Given the description of an element on the screen output the (x, y) to click on. 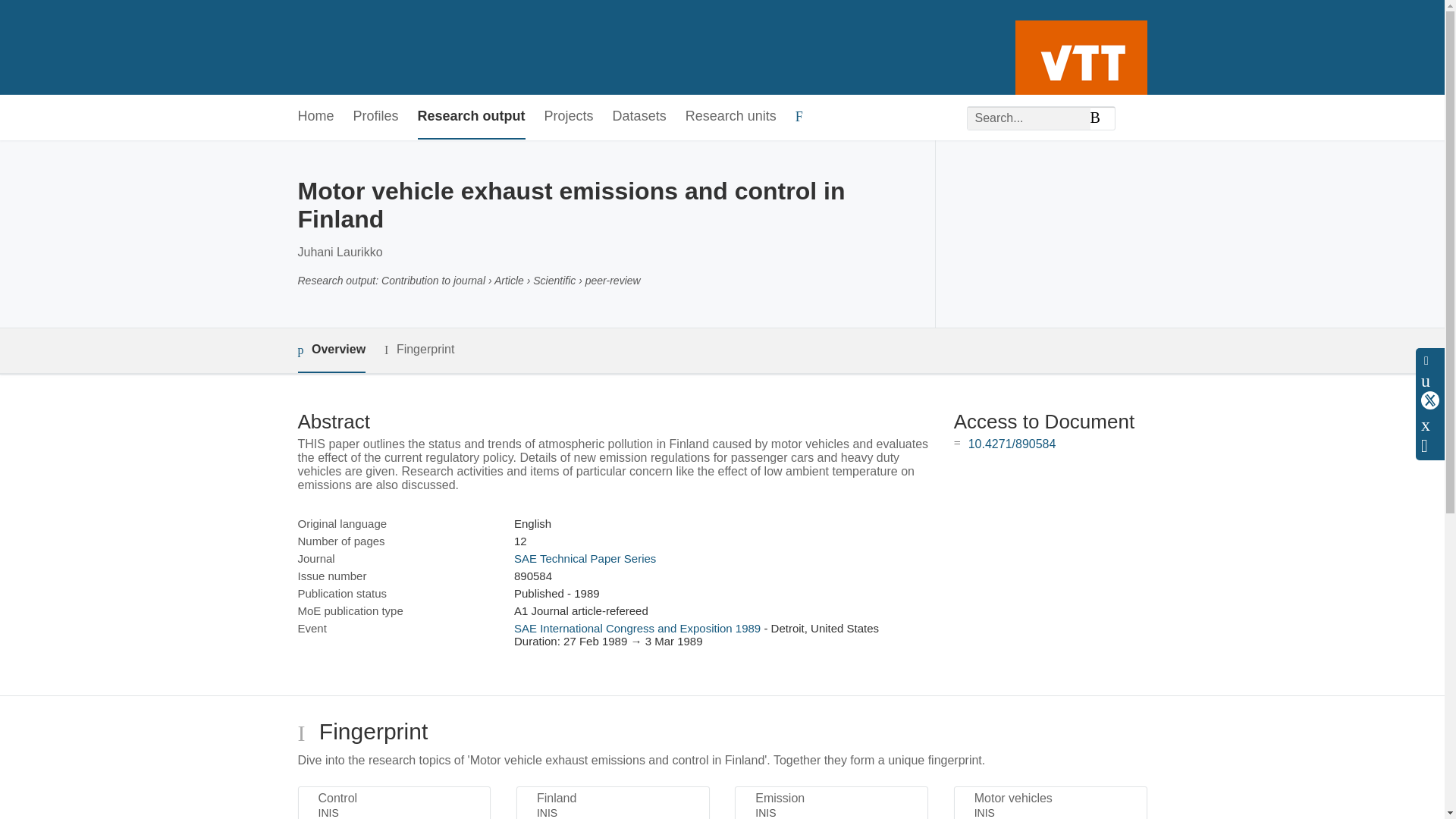
Projects (569, 117)
Fingerprint (419, 349)
SAE International Congress and Exposition 1989 (636, 627)
Research output (471, 117)
Research units (730, 117)
Overview (331, 350)
Datasets (639, 117)
Profiles (375, 117)
SAE Technical Paper Series (584, 558)
